Given the description of an element on the screen output the (x, y) to click on. 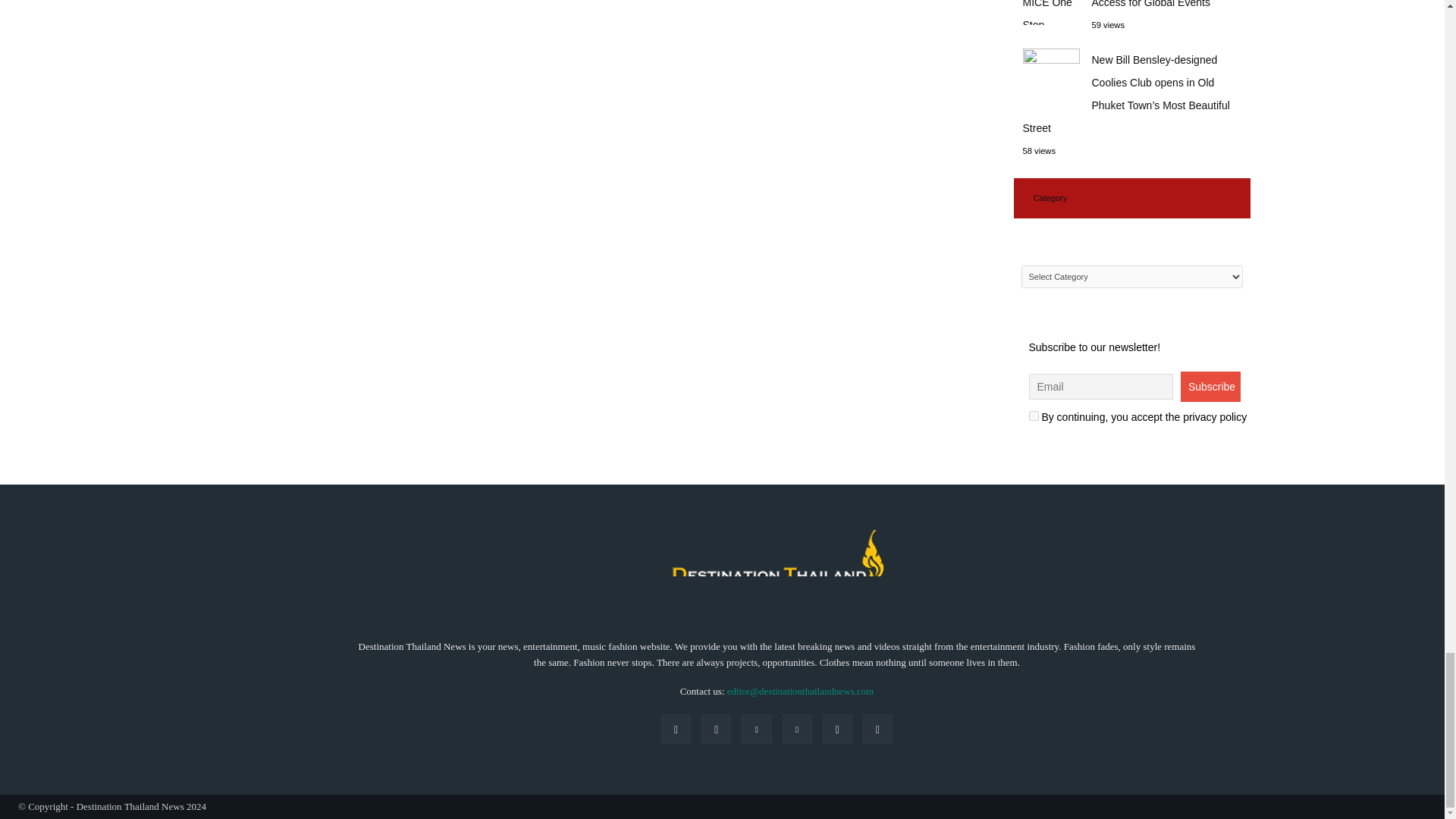
Subscribe (1210, 386)
on (1032, 415)
